Given the description of an element on the screen output the (x, y) to click on. 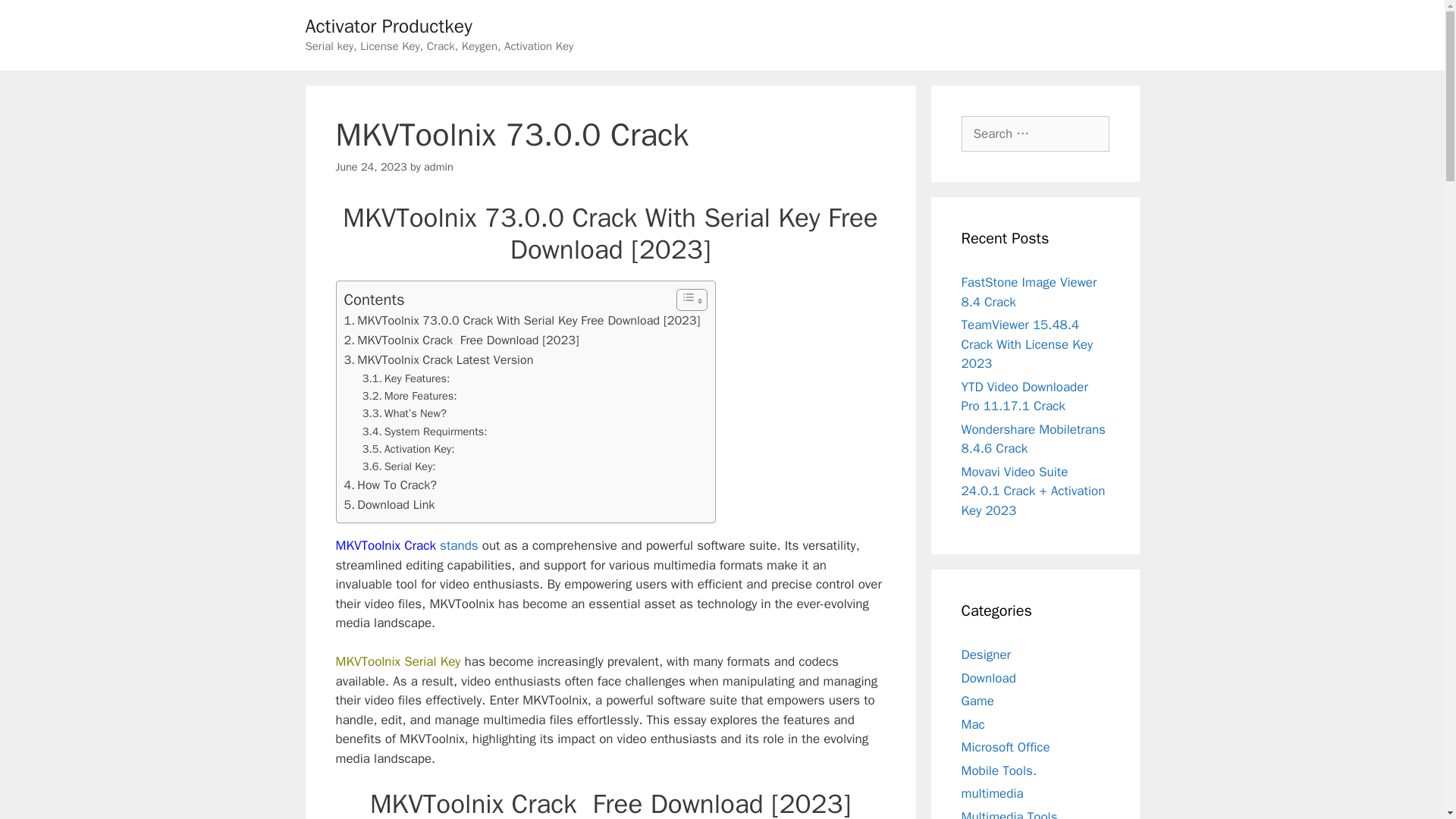
How To Crack? (390, 485)
Activation Key: (408, 448)
YTD Video Downloader Pro 11.17.1 Crack (1023, 396)
Activation Key: (408, 448)
Serial Key: (398, 466)
Game (977, 700)
Mac (972, 723)
Key Features: (405, 378)
MKVToolnix Crack Latest Version (438, 360)
Serial Key: (398, 466)
